Given the description of an element on the screen output the (x, y) to click on. 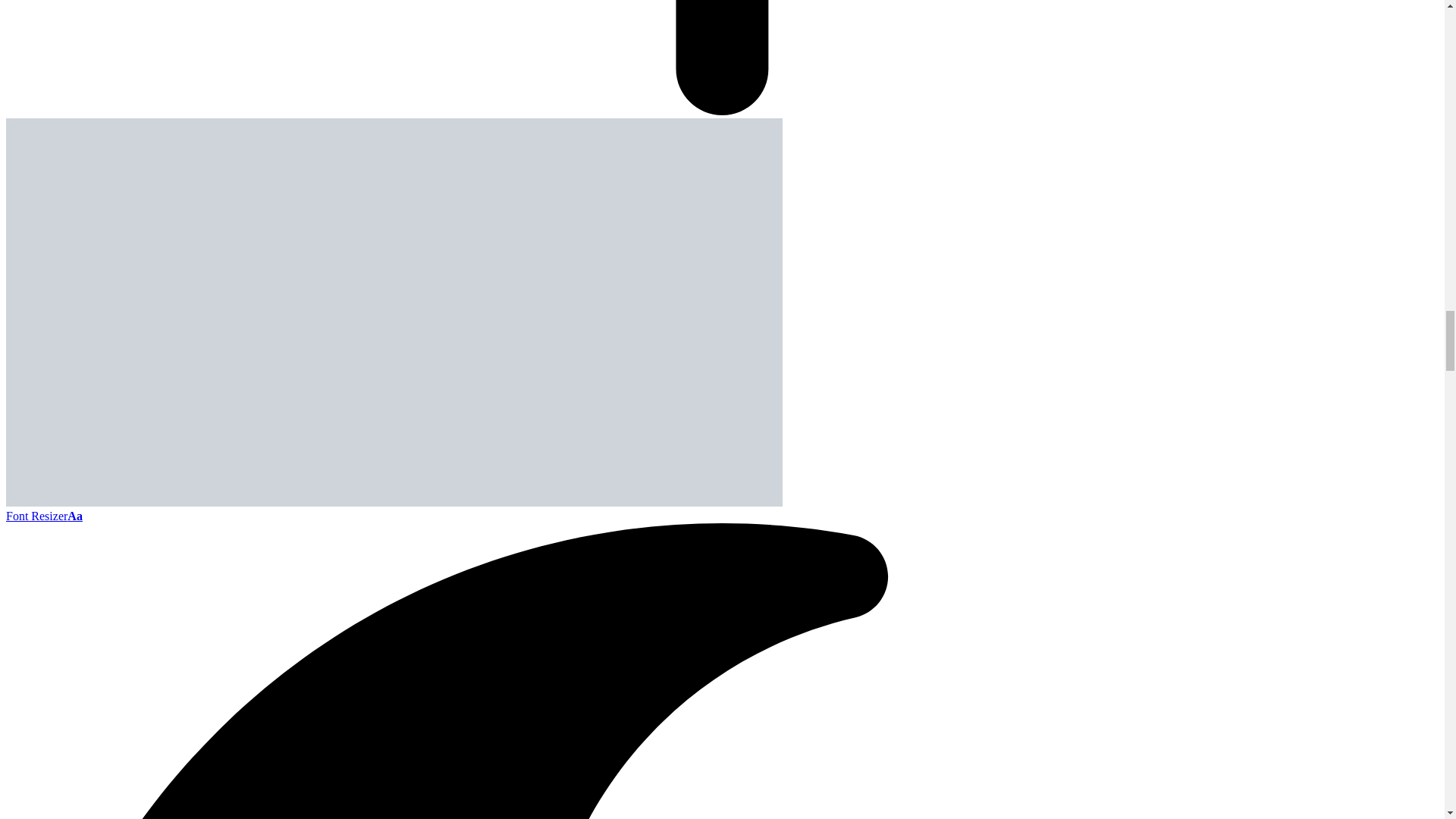
SmartData Collective (394, 502)
Font ResizerAa (43, 515)
